Given the description of an element on the screen output the (x, y) to click on. 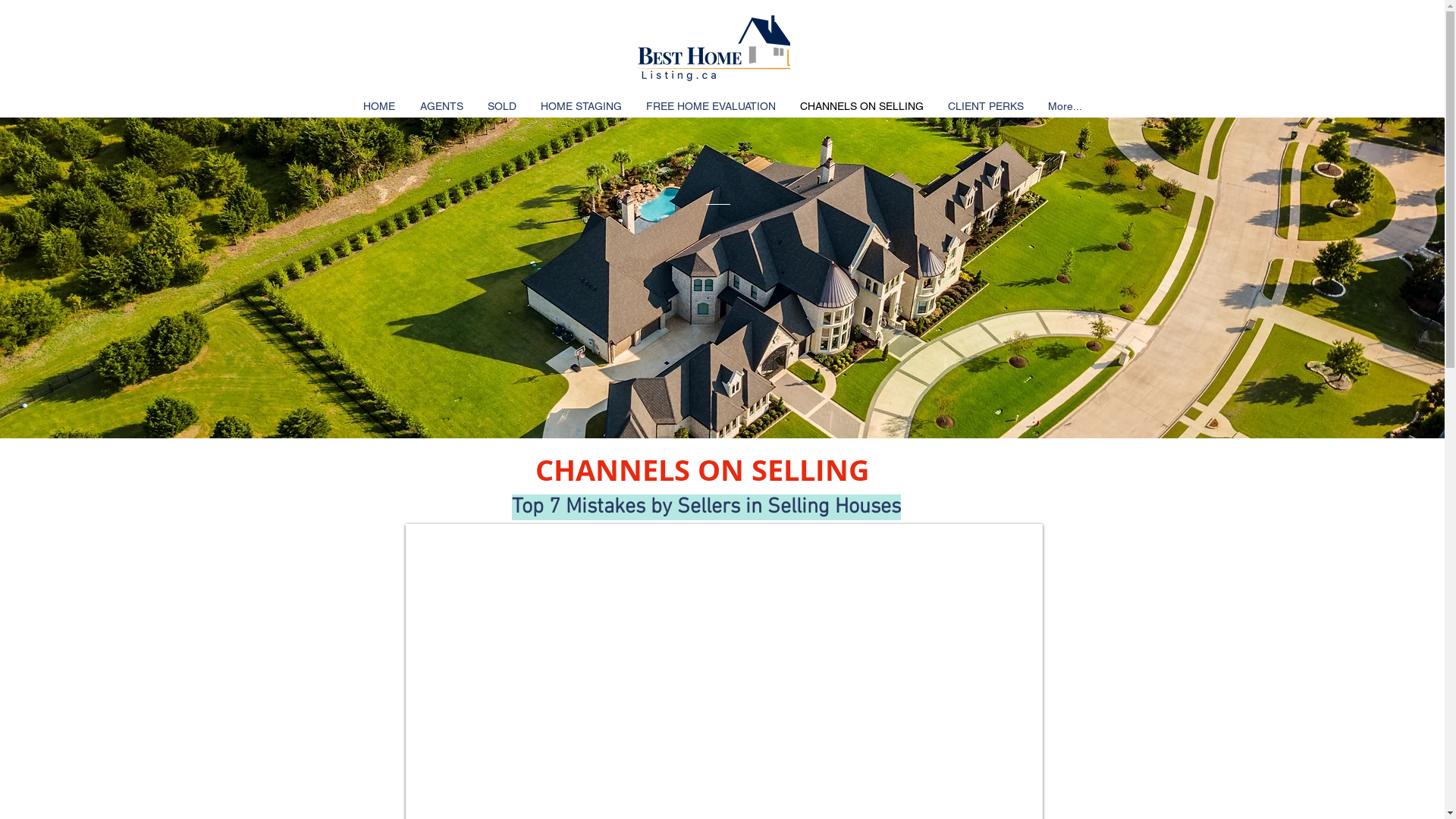
HOME STAGING Element type: text (580, 105)
CLIENT PERKS Element type: text (985, 105)
AGENTS Element type: text (441, 105)
FREE HOME EVALUATION Element type: text (710, 105)
HOME Element type: text (378, 105)
SOLD Element type: text (500, 105)
CHANNELS ON SELLING Element type: text (861, 105)
